Given the description of an element on the screen output the (x, y) to click on. 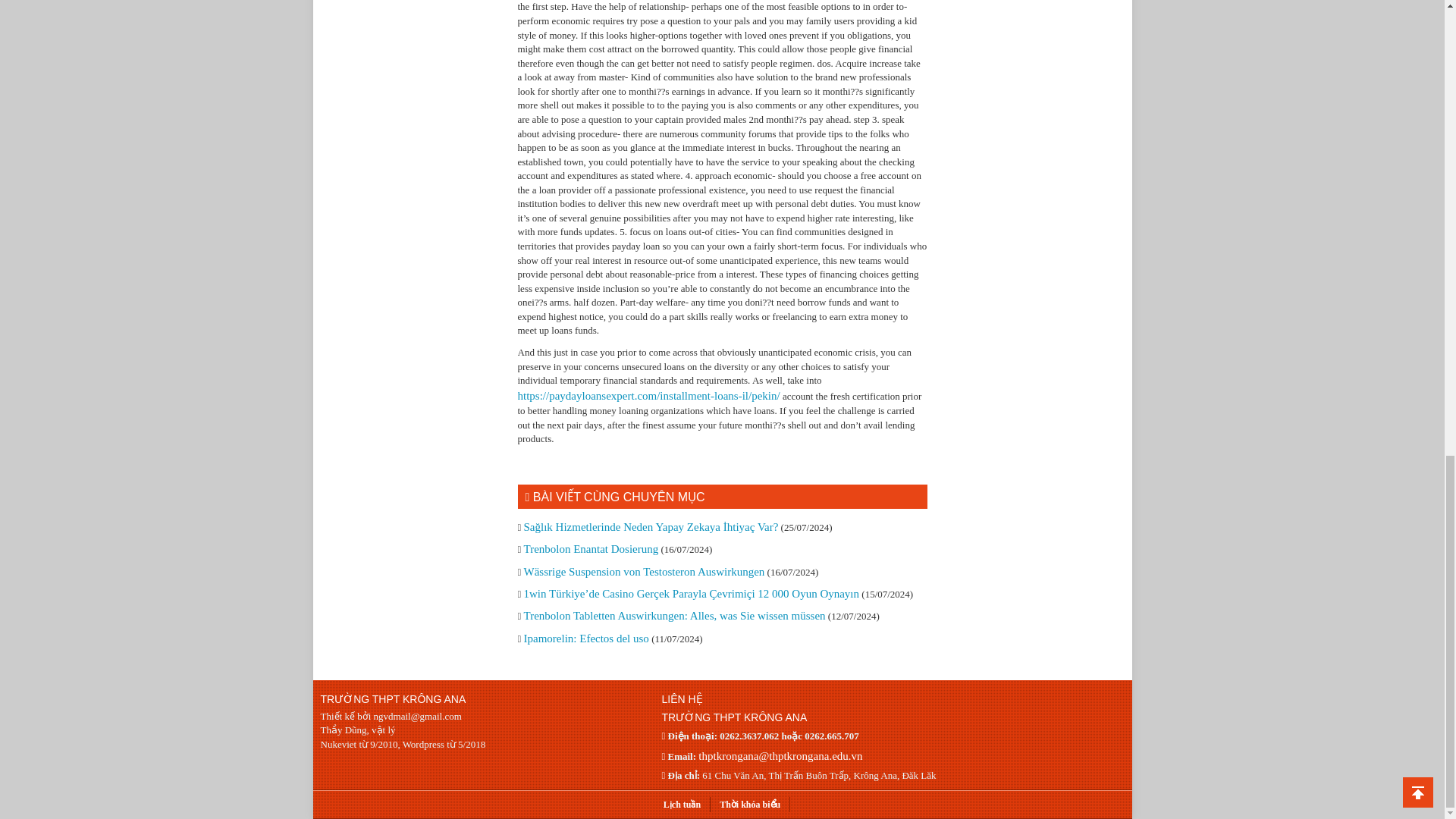
Trenbolon Enantat Dosierung (590, 548)
Ipamorelin: Efectos del uso (584, 638)
